Given the description of an element on the screen output the (x, y) to click on. 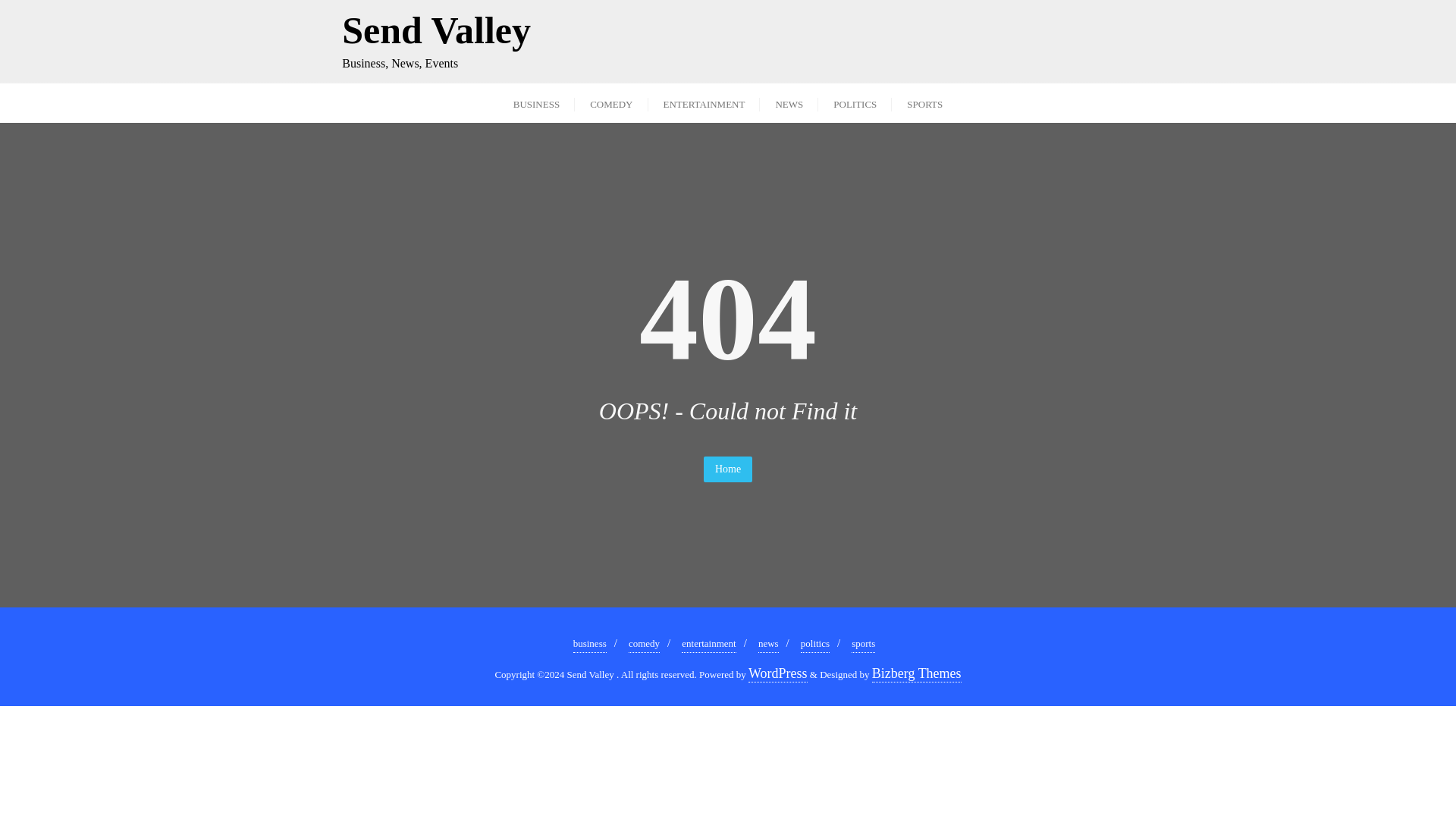
business (590, 643)
BUSINESS (536, 102)
comedy (643, 643)
ENTERTAINMENT (703, 102)
entertainment (708, 643)
politics (814, 643)
WordPress (436, 41)
Bizberg Themes (778, 673)
news (916, 673)
NEWS (768, 643)
Home (789, 102)
SPORTS (727, 469)
sports (924, 102)
COMEDY (863, 643)
